Given the description of an element on the screen output the (x, y) to click on. 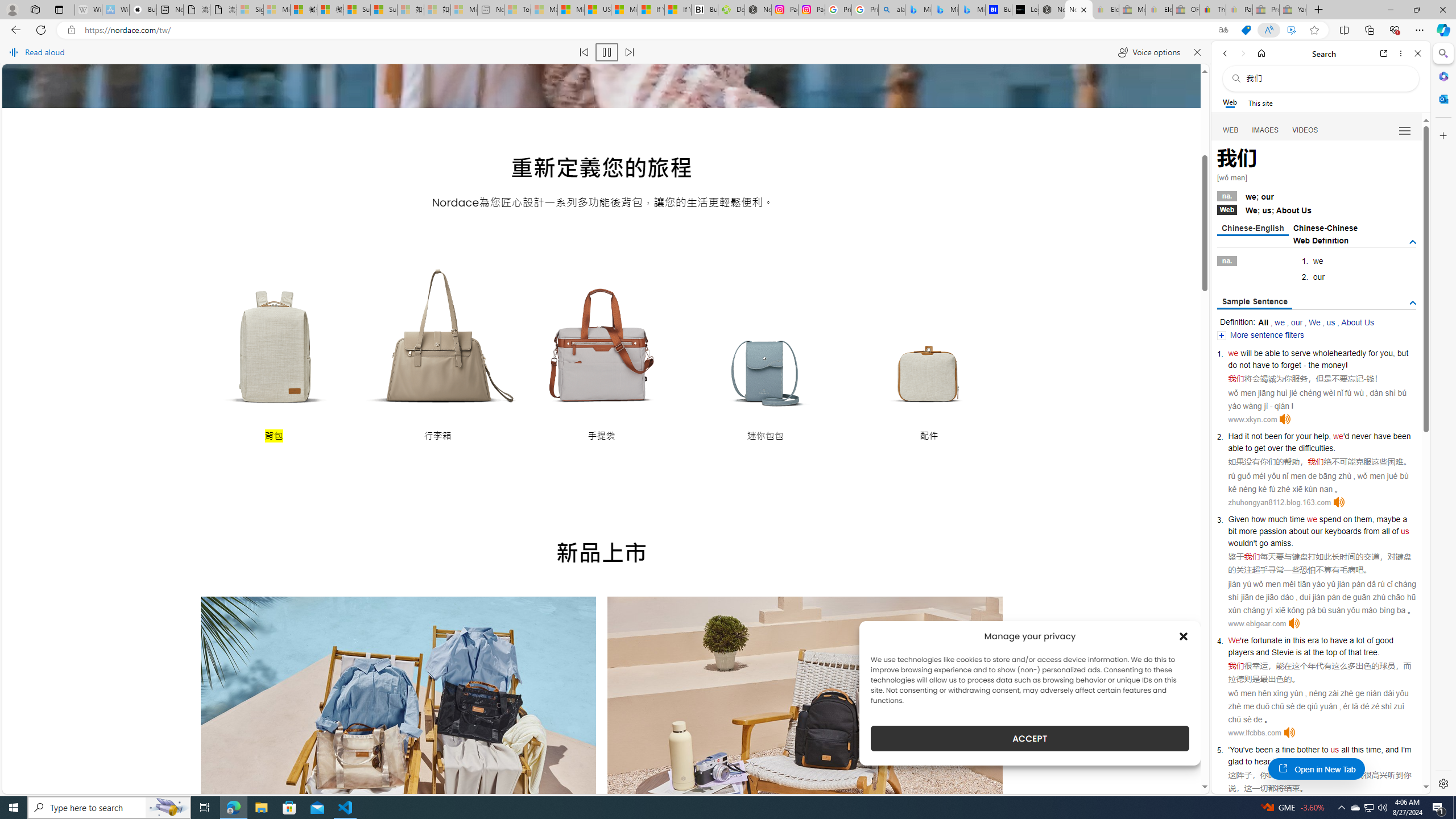
your (1303, 435)
good (1384, 640)
will (1246, 352)
help (1321, 435)
